Given the description of an element on the screen output the (x, y) to click on. 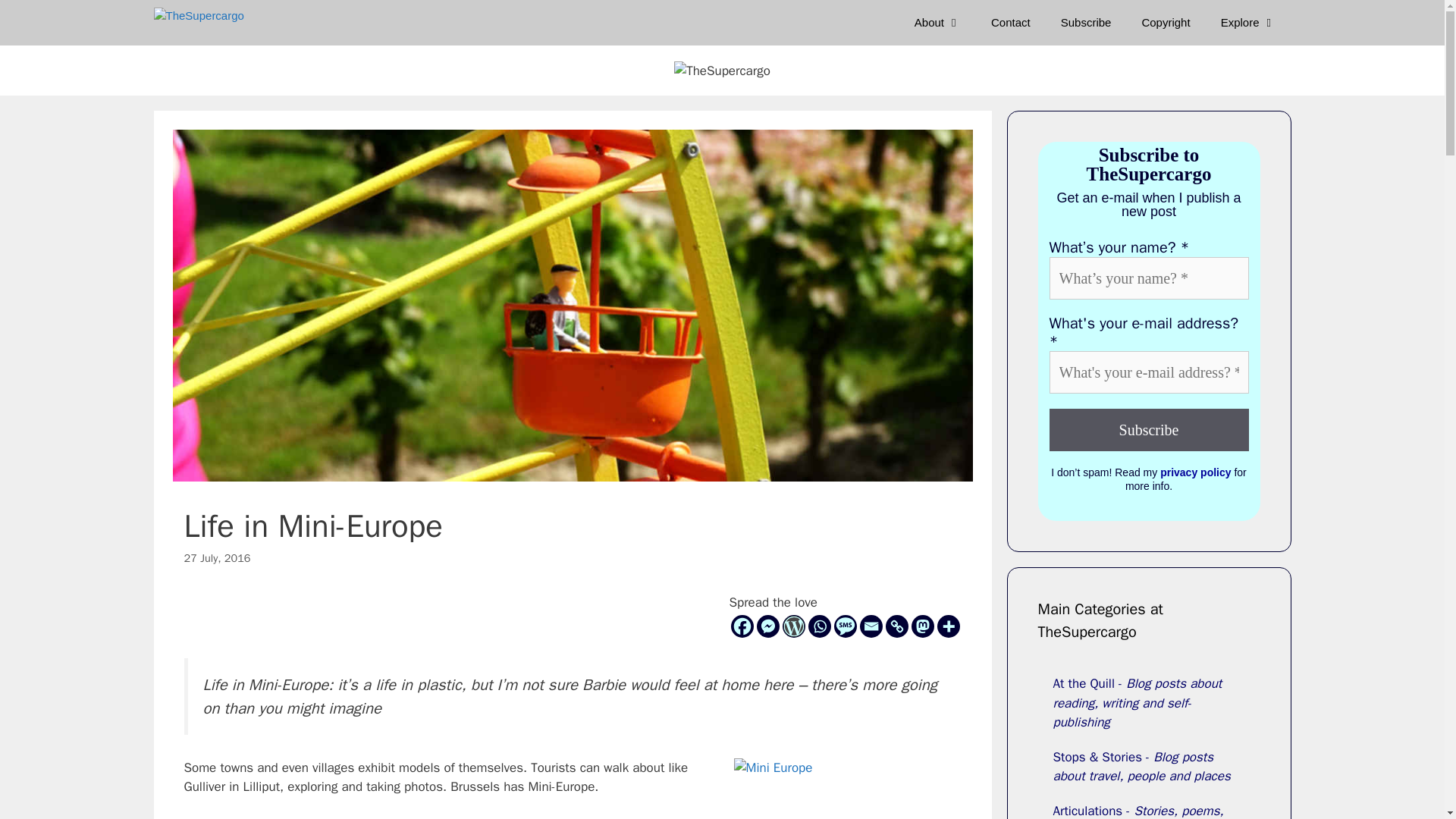
Subscribe (1085, 22)
Subscribe (1149, 429)
Copyright statement (1165, 22)
Copyright (1165, 22)
Explore (1248, 22)
TheSupercargo (197, 22)
Contact (1010, 22)
Subscribe (1085, 22)
About (937, 22)
Explore TheSupercargo website (1248, 22)
